Given the description of an element on the screen output the (x, y) to click on. 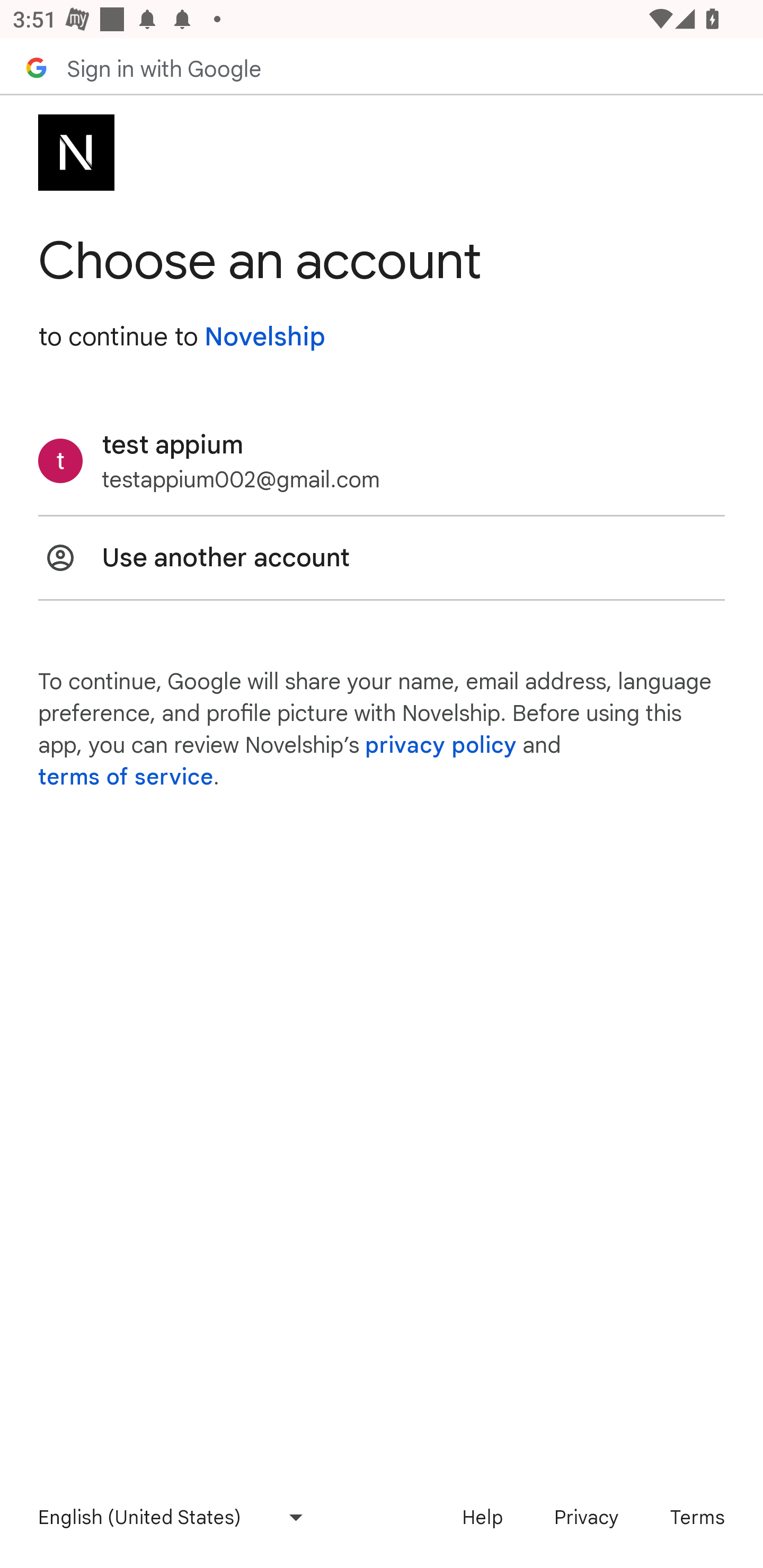
Novelship (264, 336)
Use another account (381, 556)
privacy policy (440, 744)
terms of service (126, 776)
Help (481, 1517)
Privacy (586, 1517)
Terms (696, 1517)
